Given the description of an element on the screen output the (x, y) to click on. 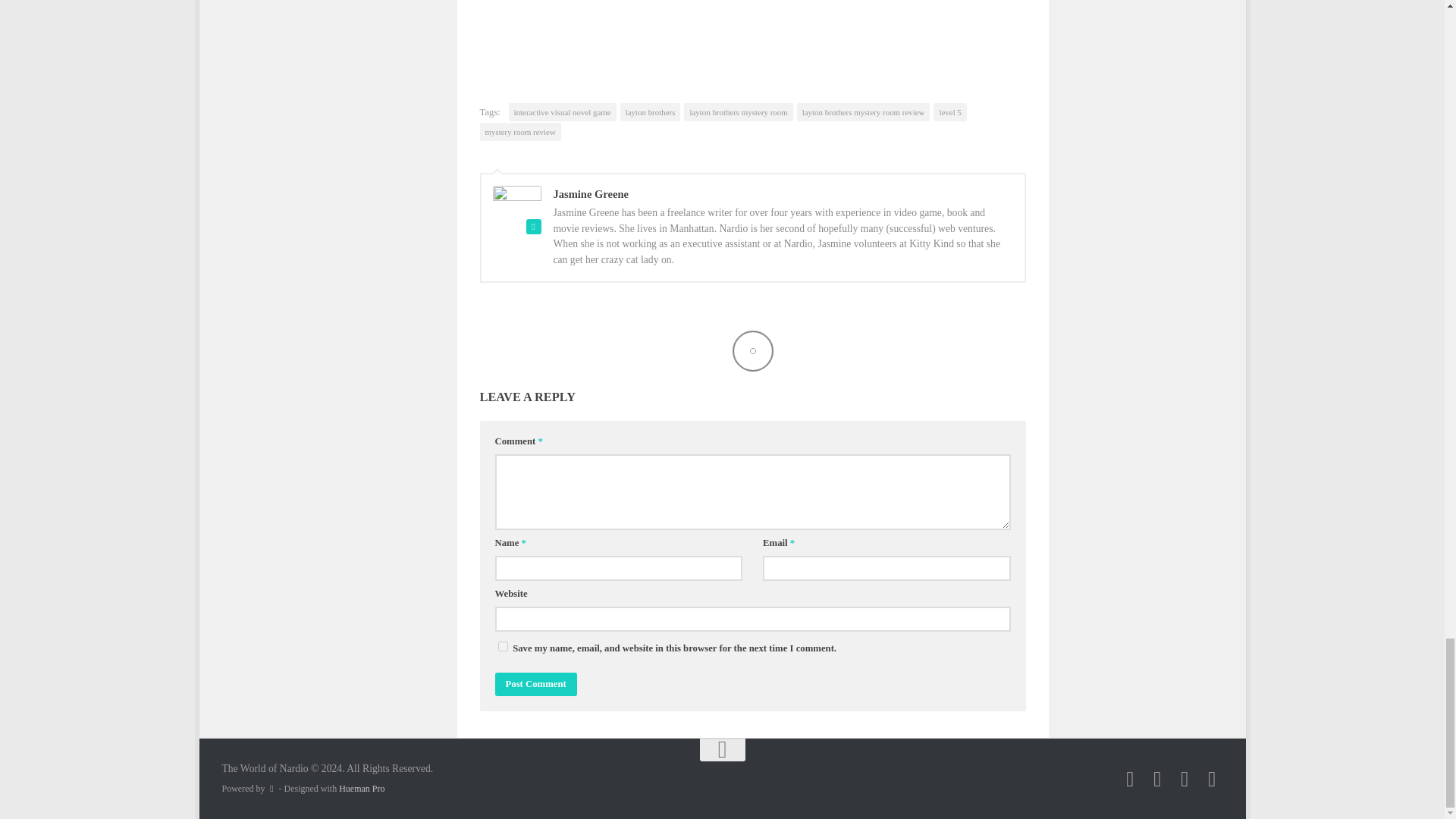
layton brothers mystery room review (863, 112)
layton brothers mystery room (738, 112)
level 5 (949, 112)
Powered by WordPress (271, 788)
layton brothers (650, 112)
yes (501, 646)
Post Comment (535, 684)
interactive visual novel game (561, 112)
mystery room review (519, 131)
Post Comment (535, 684)
